Given the description of an element on the screen output the (x, y) to click on. 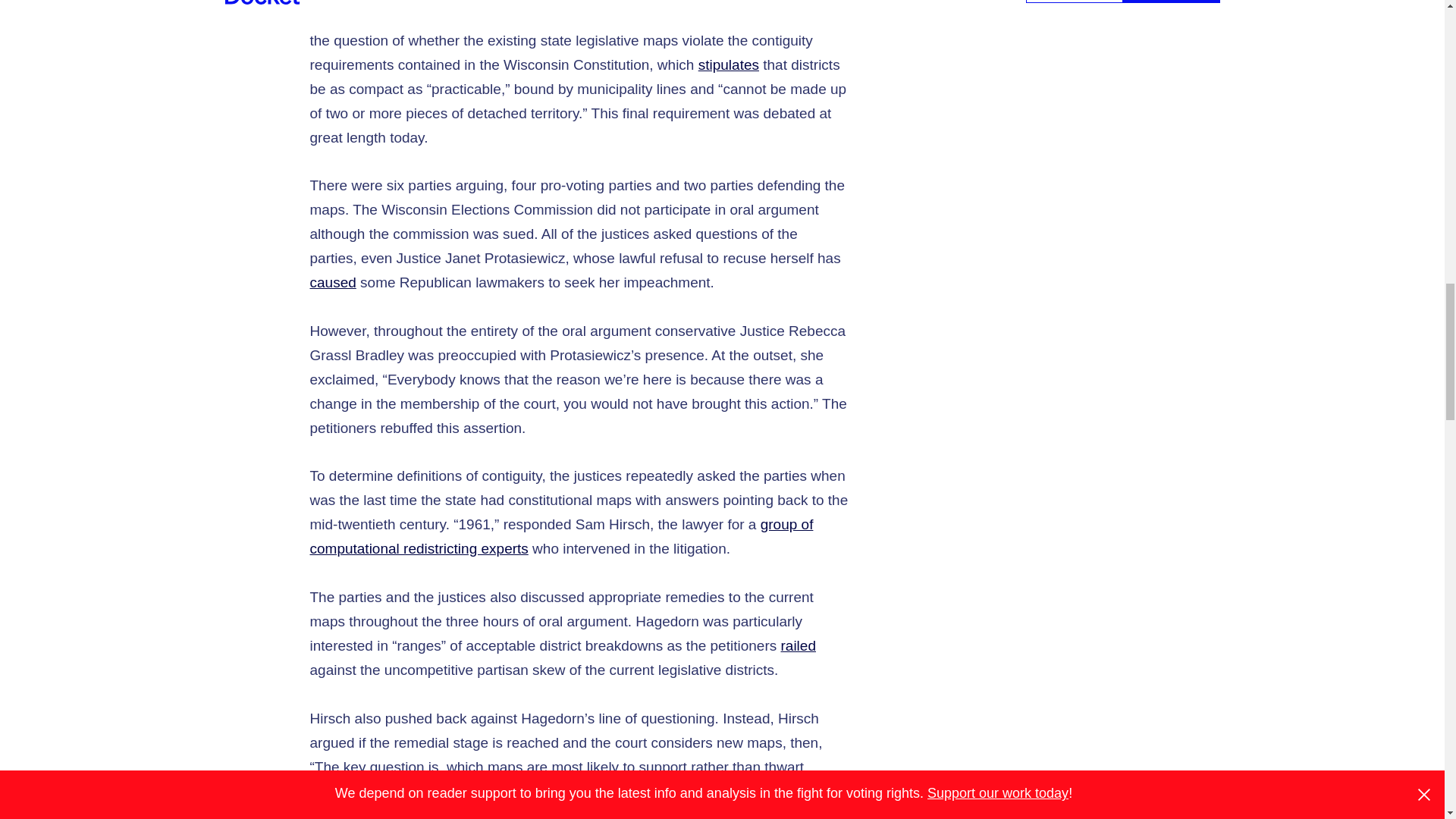
stipulates (728, 64)
order (483, 16)
caused (331, 282)
group of computational redistricting experts (560, 536)
